Given the description of an element on the screen output the (x, y) to click on. 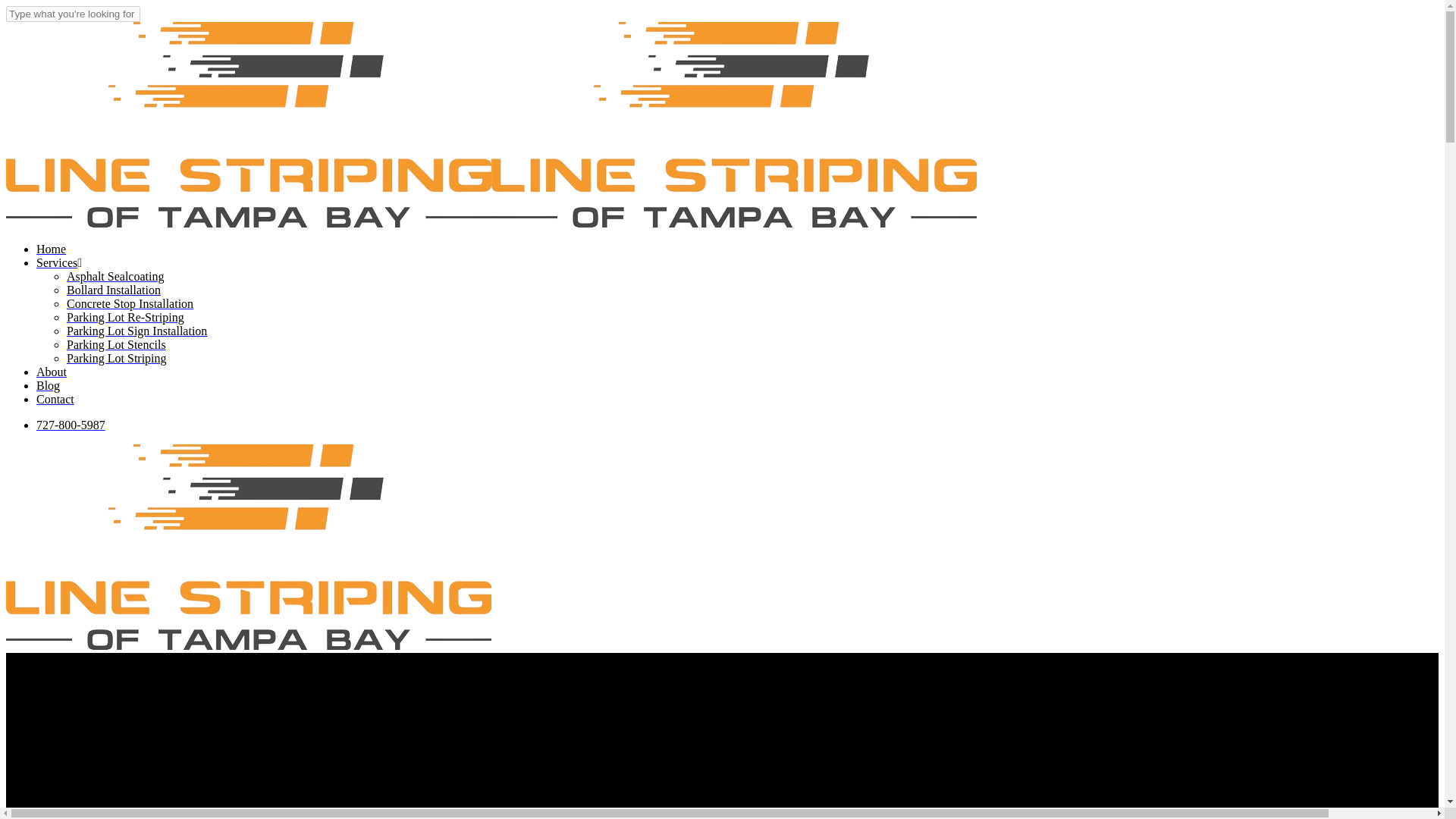
Services (58, 262)
Parking Lot Striping (116, 358)
Parking Lot Re-Striping (125, 317)
Parking Lot Stencils (115, 344)
727-800-5987 (70, 424)
Home (50, 248)
Blog (47, 385)
Concrete Stop Installation (129, 303)
Asphalt Sealcoating (114, 276)
Parking Lot Sign Installation (136, 330)
Contact (55, 399)
Bollard Installation (113, 289)
About (51, 371)
